Given the description of an element on the screen output the (x, y) to click on. 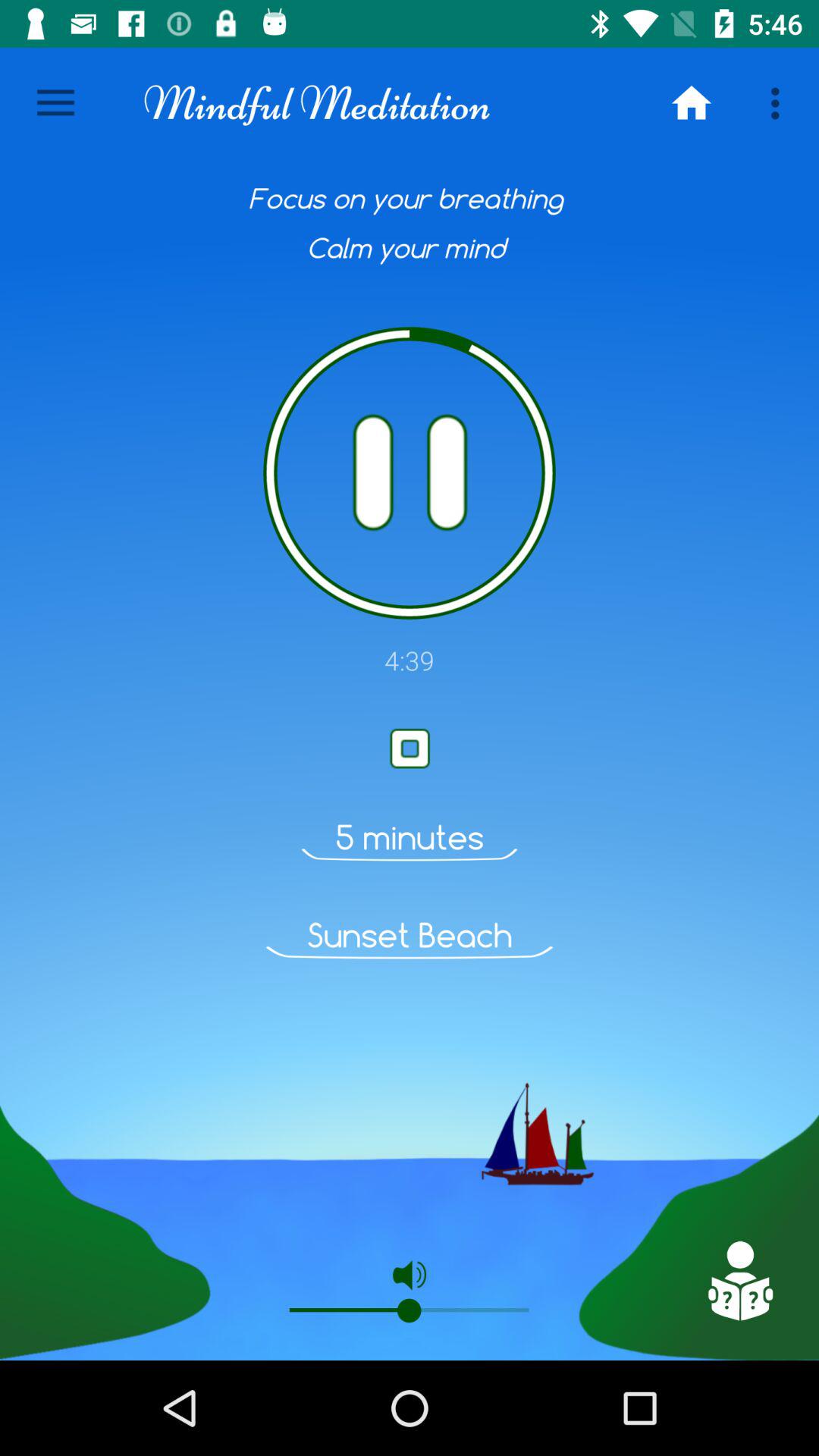
off (409, 472)
